Given the description of an element on the screen output the (x, y) to click on. 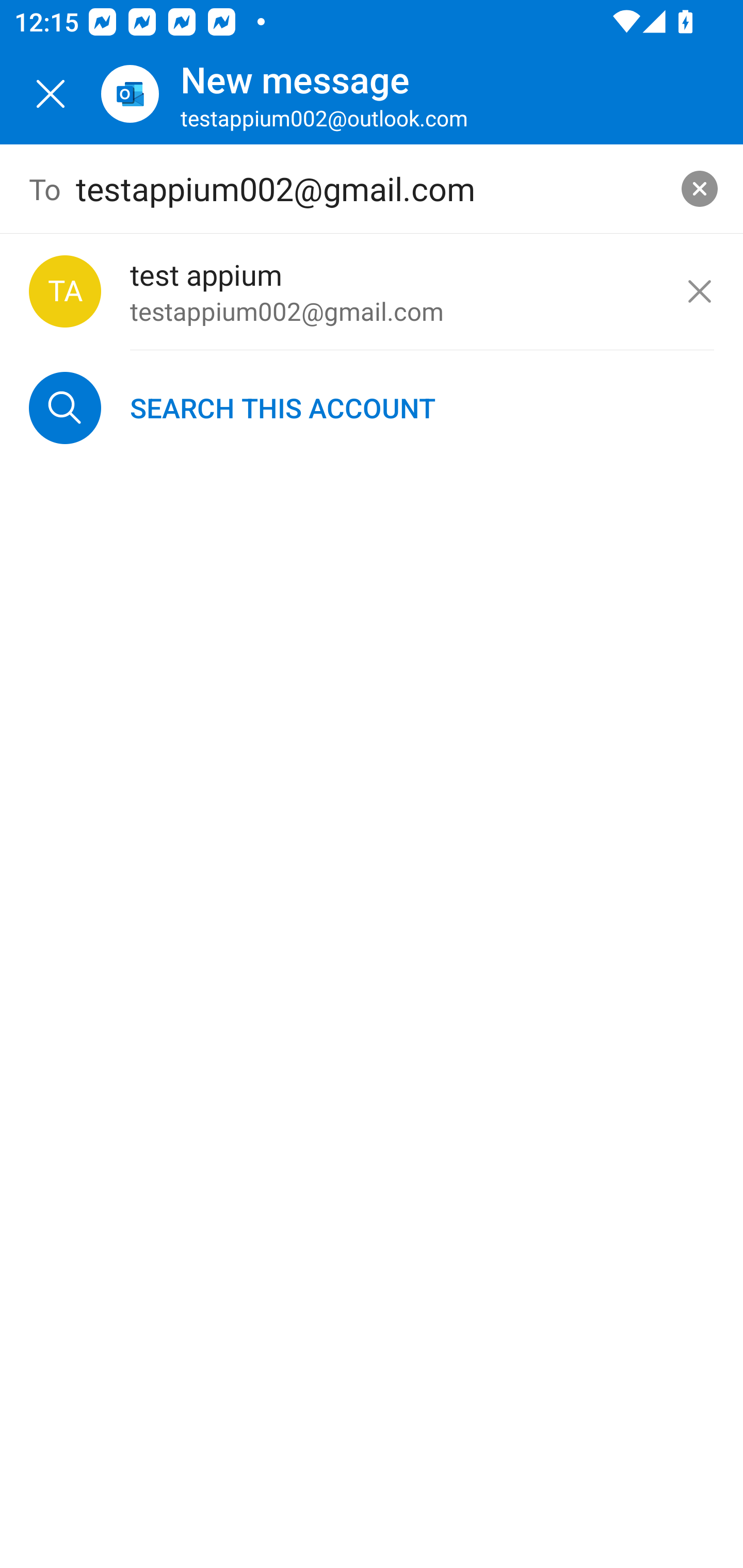
Close (50, 93)
testappium002@gmail.com (371, 188)
clear search (699, 188)
